Given the description of an element on the screen output the (x, y) to click on. 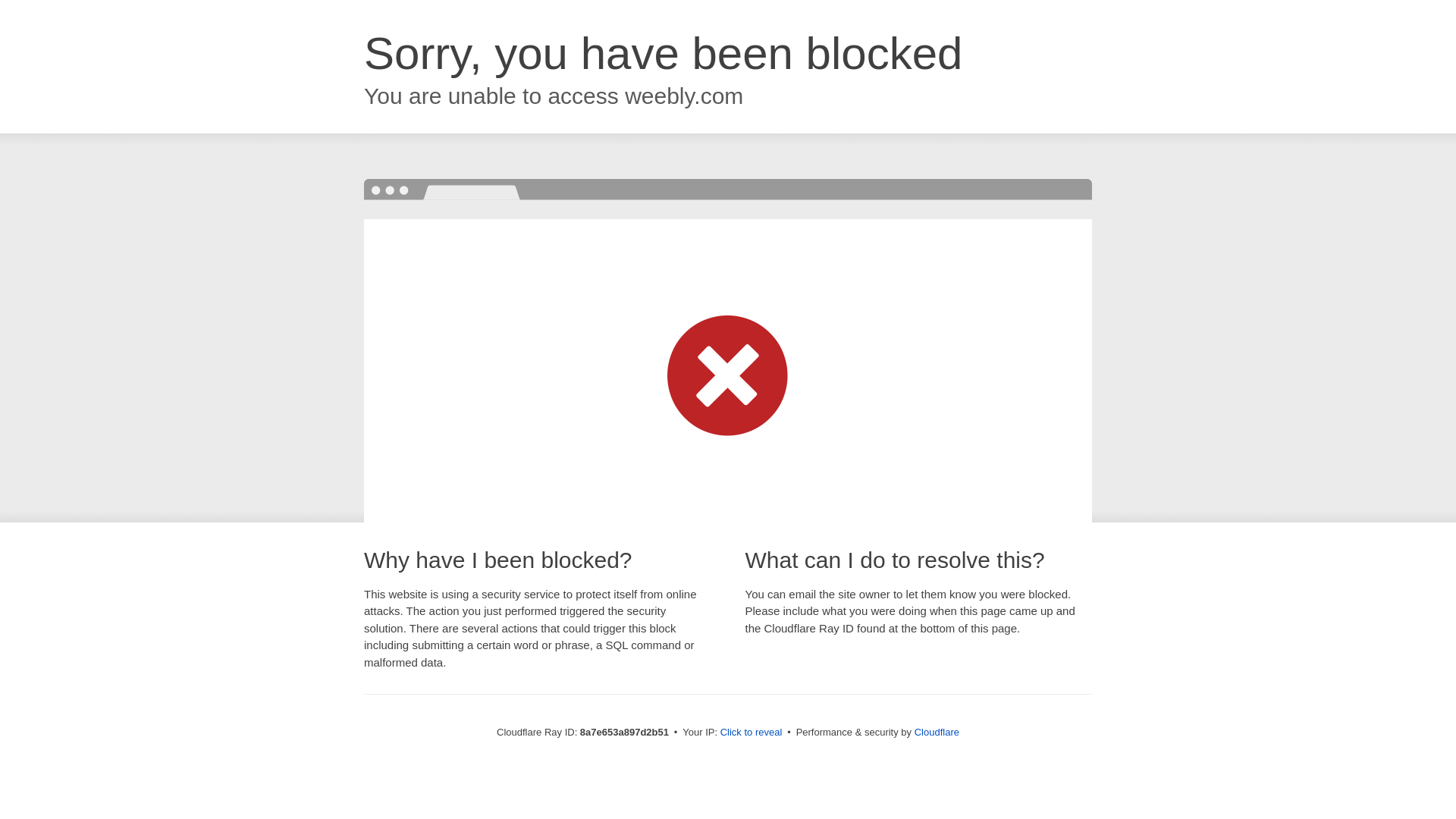
Cloudflare (936, 731)
Click to reveal (751, 732)
